Given the description of an element on the screen output the (x, y) to click on. 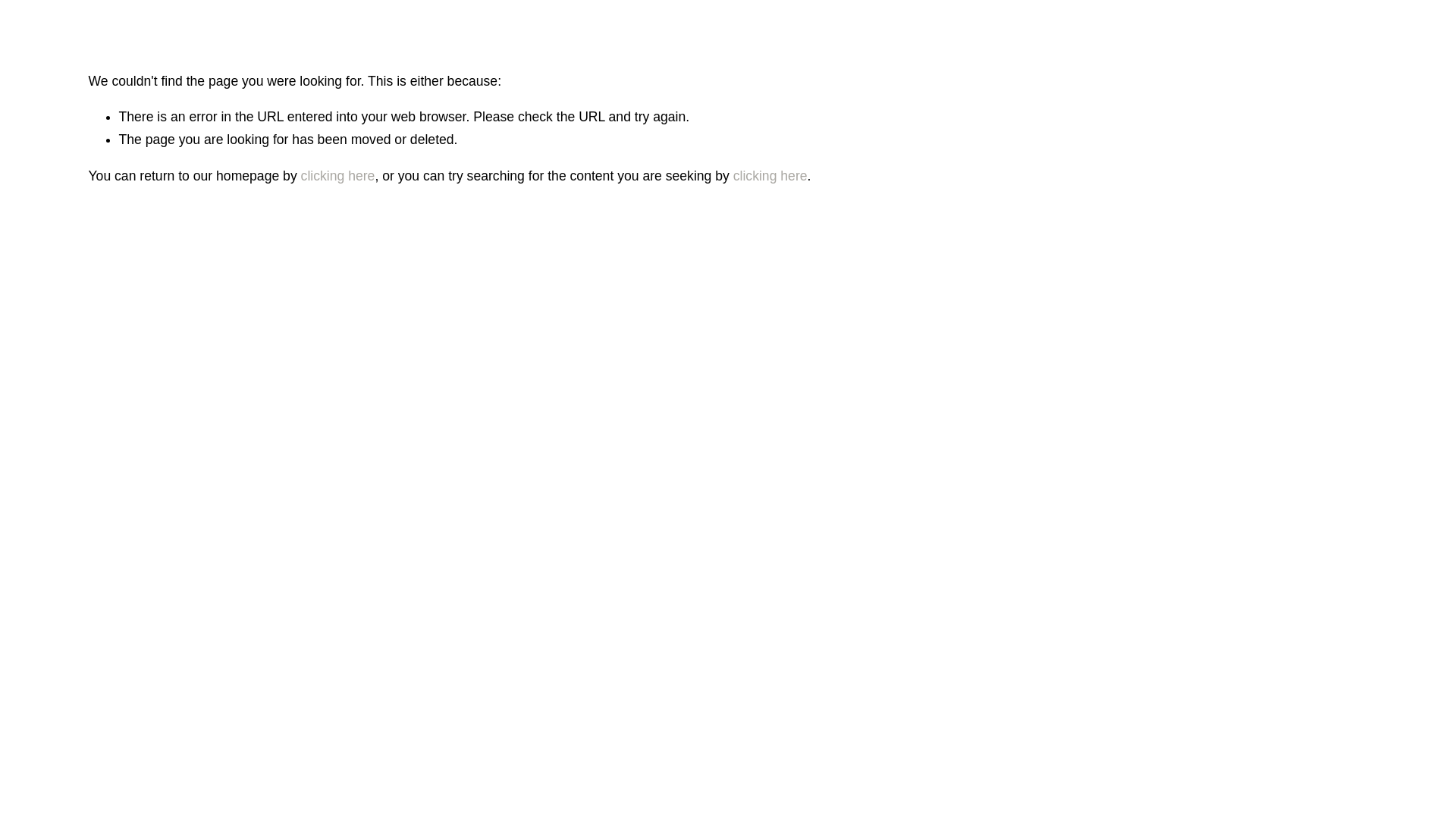
clicking here Element type: text (338, 175)
clicking here Element type: text (770, 175)
